Given the description of an element on the screen output the (x, y) to click on. 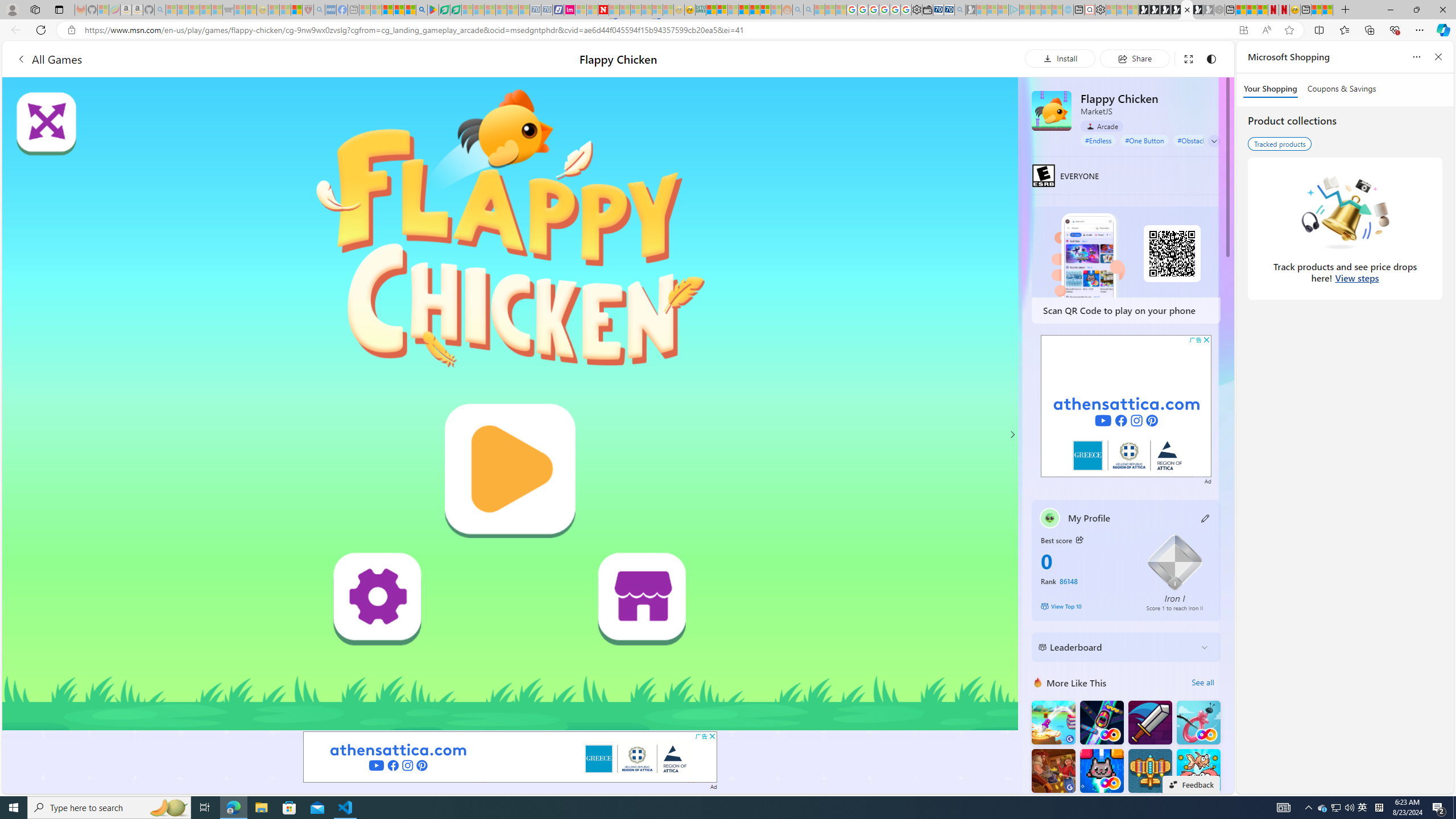
Saloon Robbery (1053, 770)
Advertisement (1126, 405)
All Games (216, 58)
View Top 10 (1085, 605)
